Given the description of an element on the screen output the (x, y) to click on. 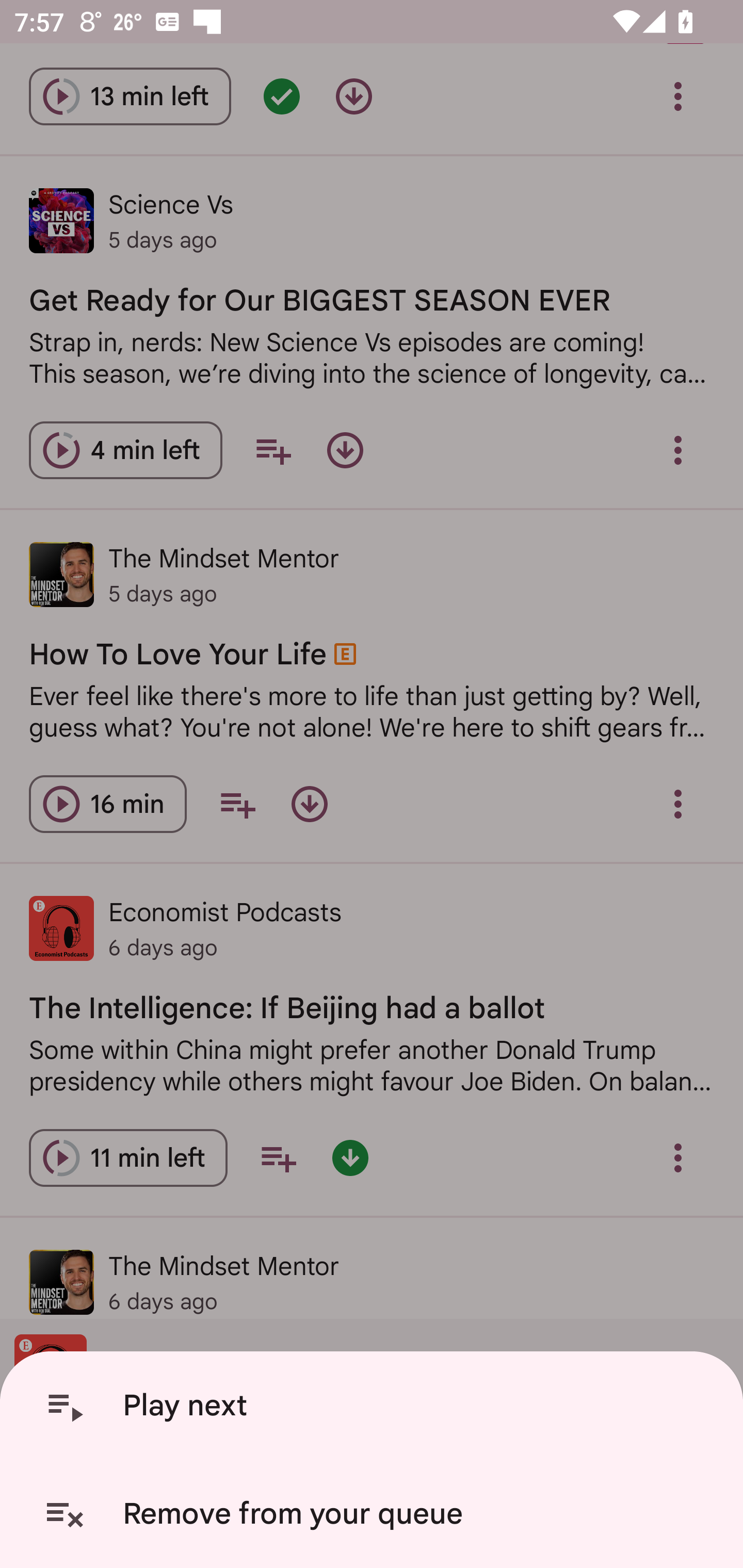
Play next (375, 1405)
Remove from your queue (375, 1513)
